Given the description of an element on the screen output the (x, y) to click on. 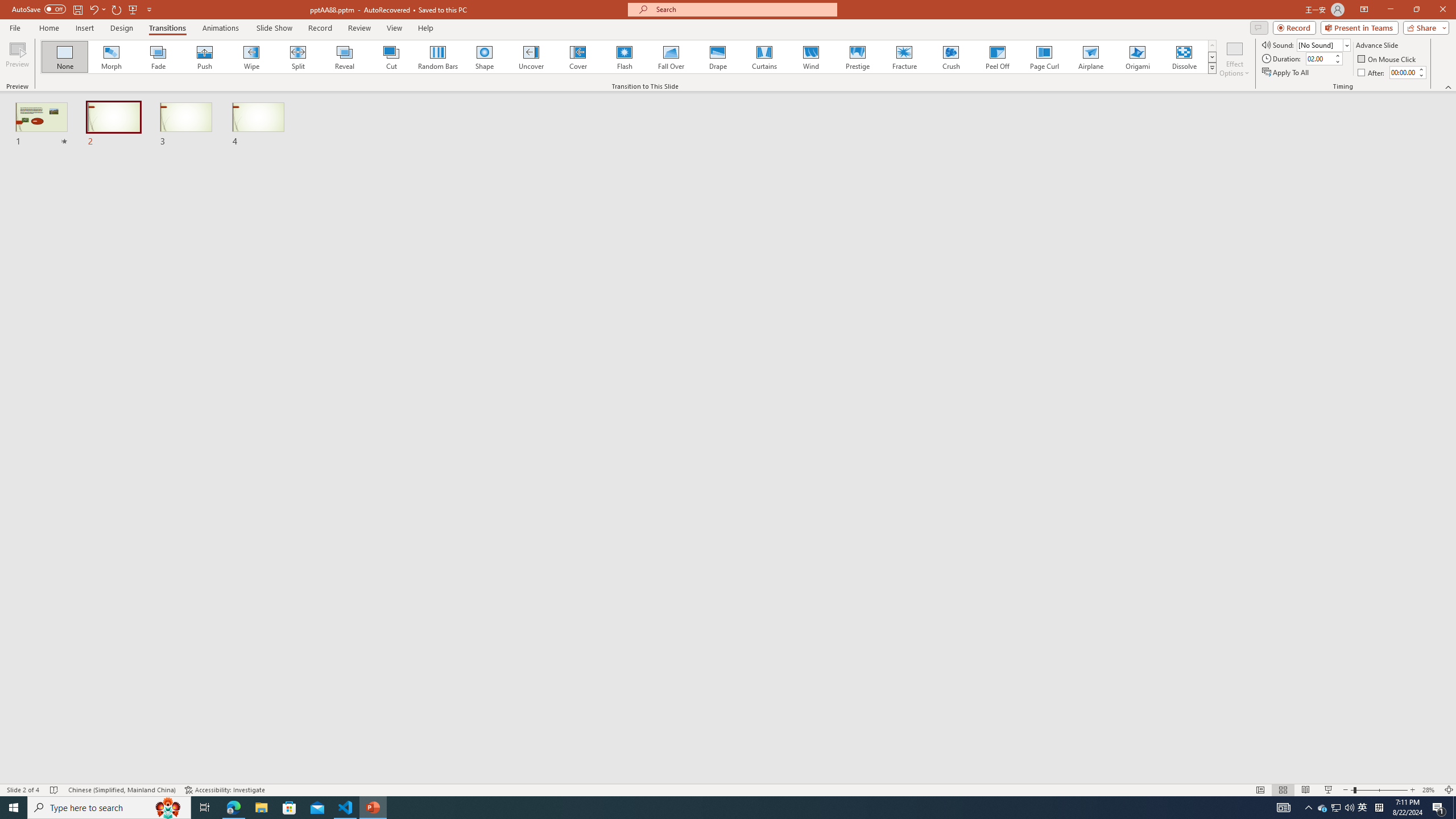
Dissolve (1183, 56)
Duration (1319, 58)
Apply To All (1286, 72)
Prestige (857, 56)
Split (298, 56)
Fade (158, 56)
Preview (17, 58)
Morph (111, 56)
